Given the description of an element on the screen output the (x, y) to click on. 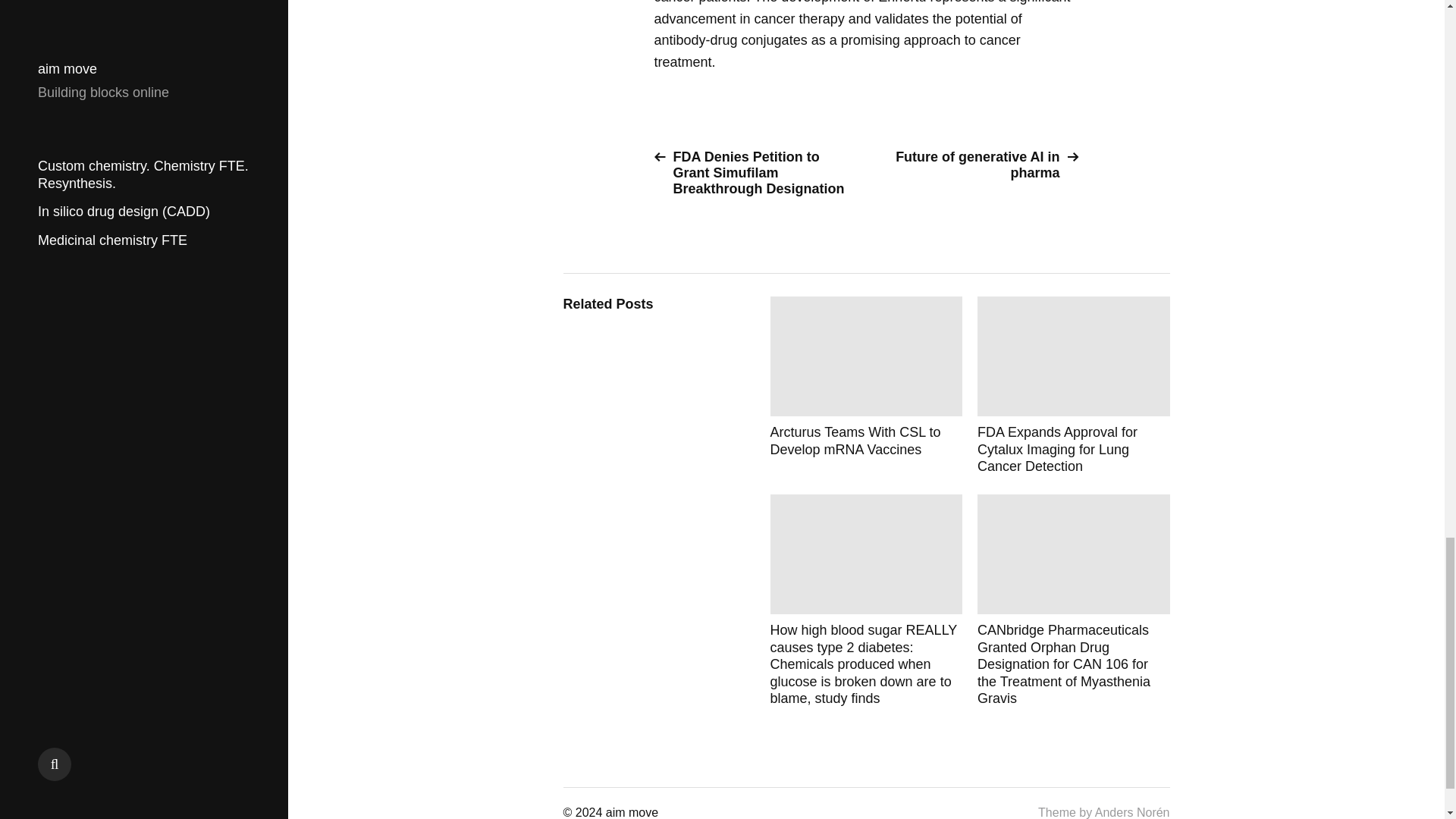
Future of generative AI in pharma (977, 164)
Arcturus Teams With CSL to Develop mRNA Vaccines (866, 385)
